Given the description of an element on the screen output the (x, y) to click on. 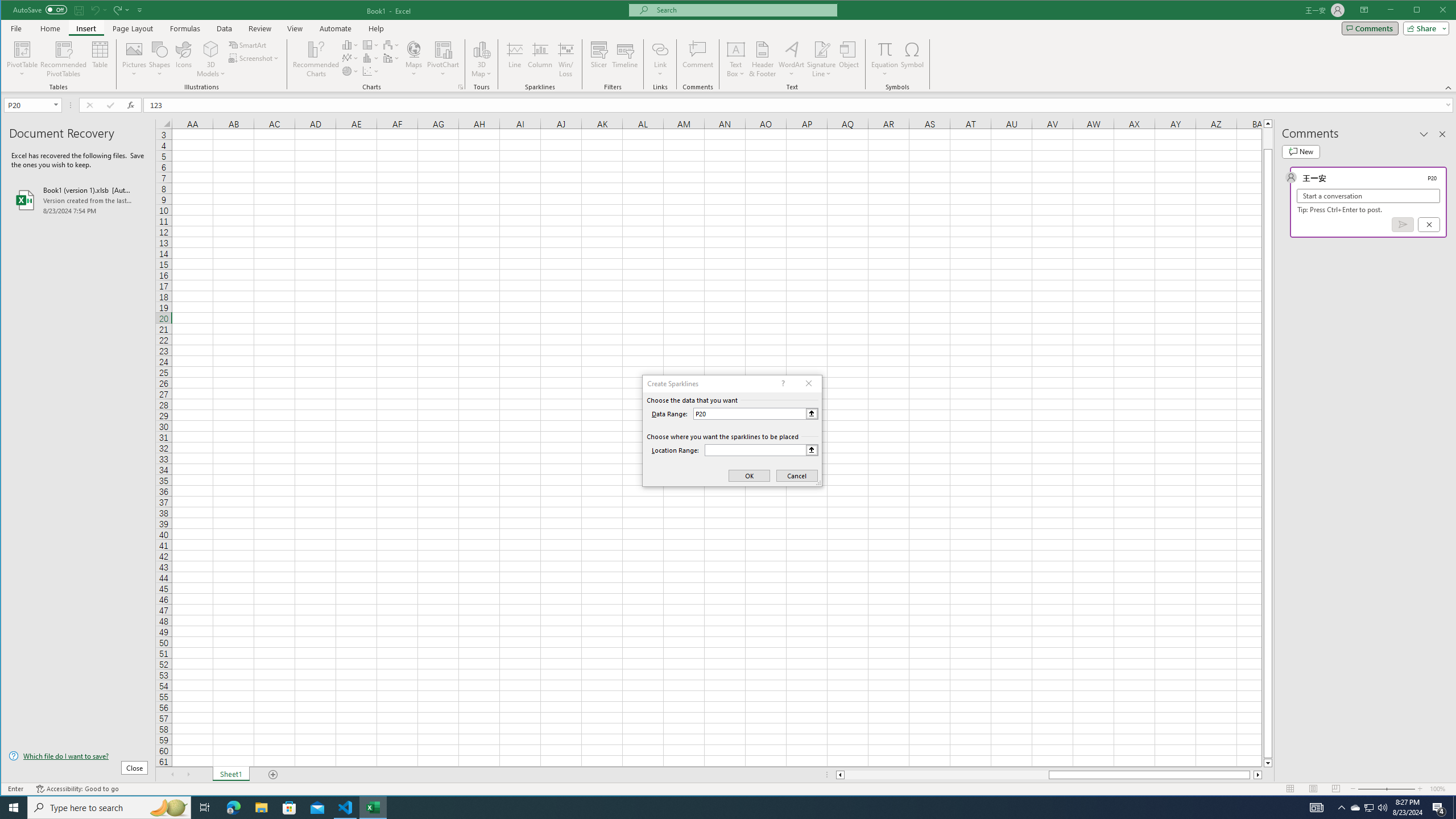
PivotChart (443, 59)
Insert Waterfall, Funnel, Stock, Surface, or Radar Chart (391, 44)
Link (659, 59)
Object... (848, 59)
Equation (884, 59)
Page left (946, 774)
Line (514, 59)
